Given the description of an element on the screen output the (x, y) to click on. 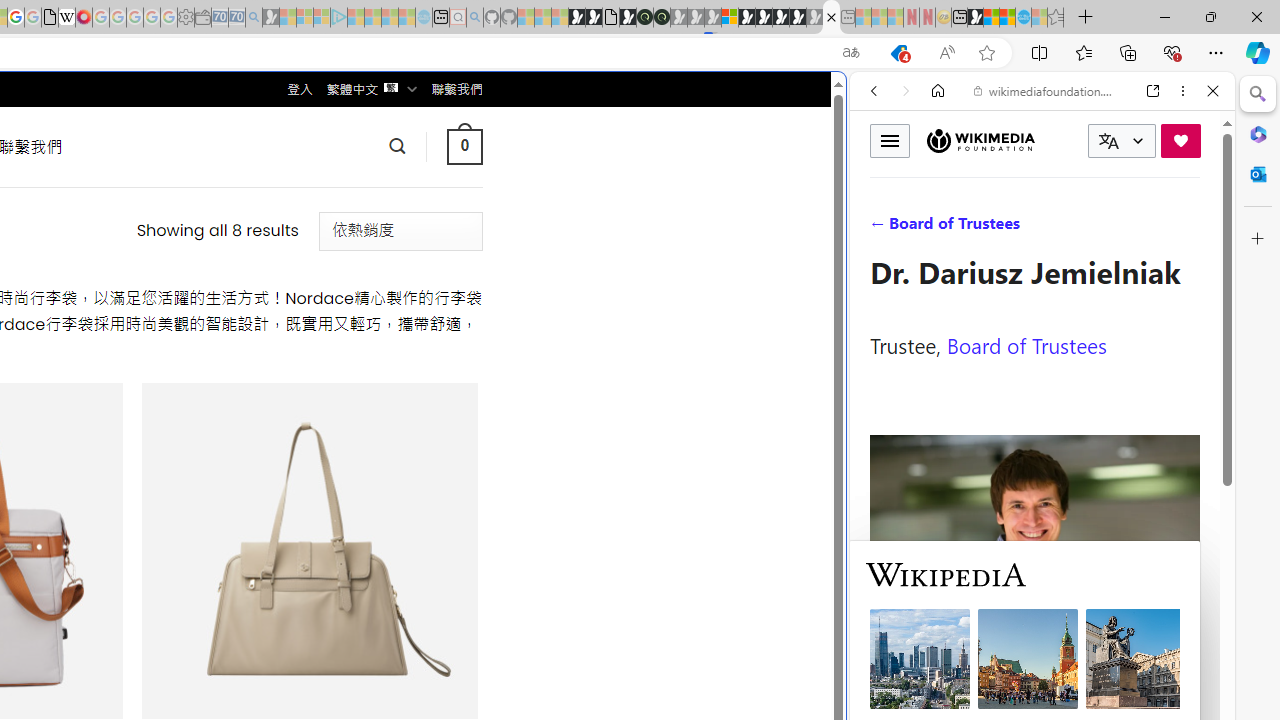
MediaWiki (83, 17)
 0  (464, 146)
